Given the description of an element on the screen output the (x, y) to click on. 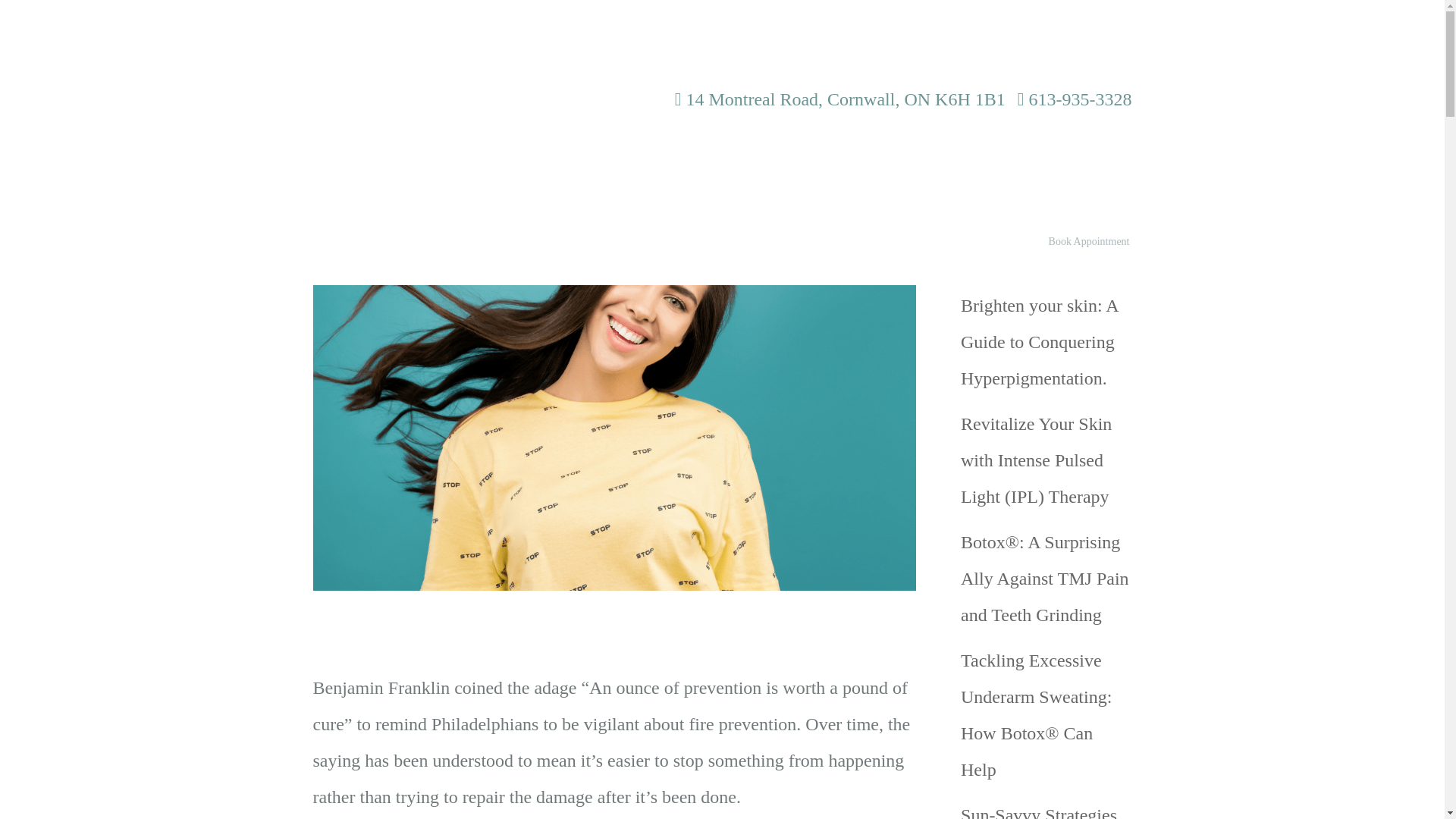
Search (1108, 180)
Injectables (718, 241)
Search (1108, 180)
Brighten your skin: A Guide to Conquering Hyperpigmentation. (1039, 341)
Skin Treatments (792, 241)
Search (1108, 180)
Skin Care (960, 241)
Book Appointment (1089, 241)
